Given the description of an element on the screen output the (x, y) to click on. 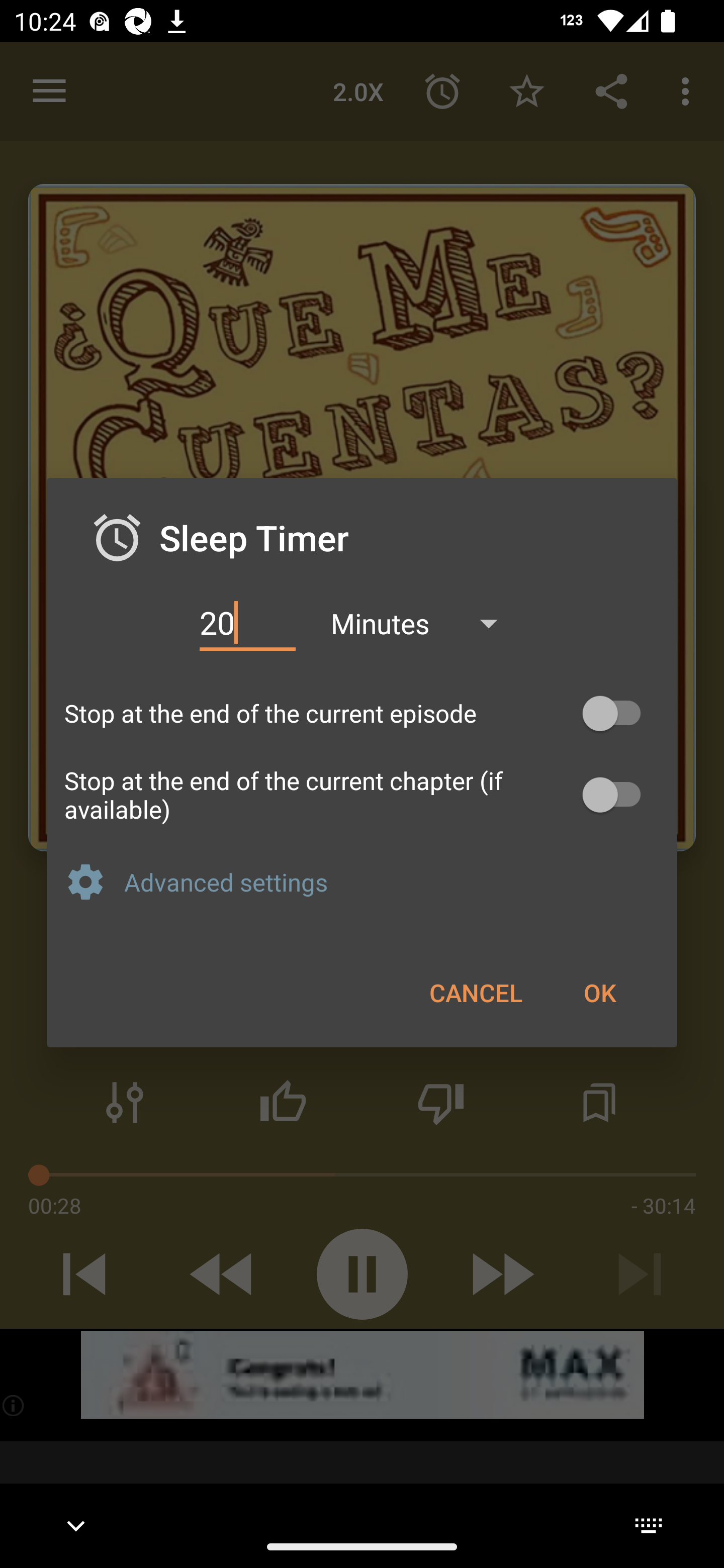
20 (247, 623)
Minutes (423, 623)
Stop at the end of the current episode (361, 712)
Advanced settings (391, 881)
CANCEL (475, 992)
OK (599, 992)
